Given the description of an element on the screen output the (x, y) to click on. 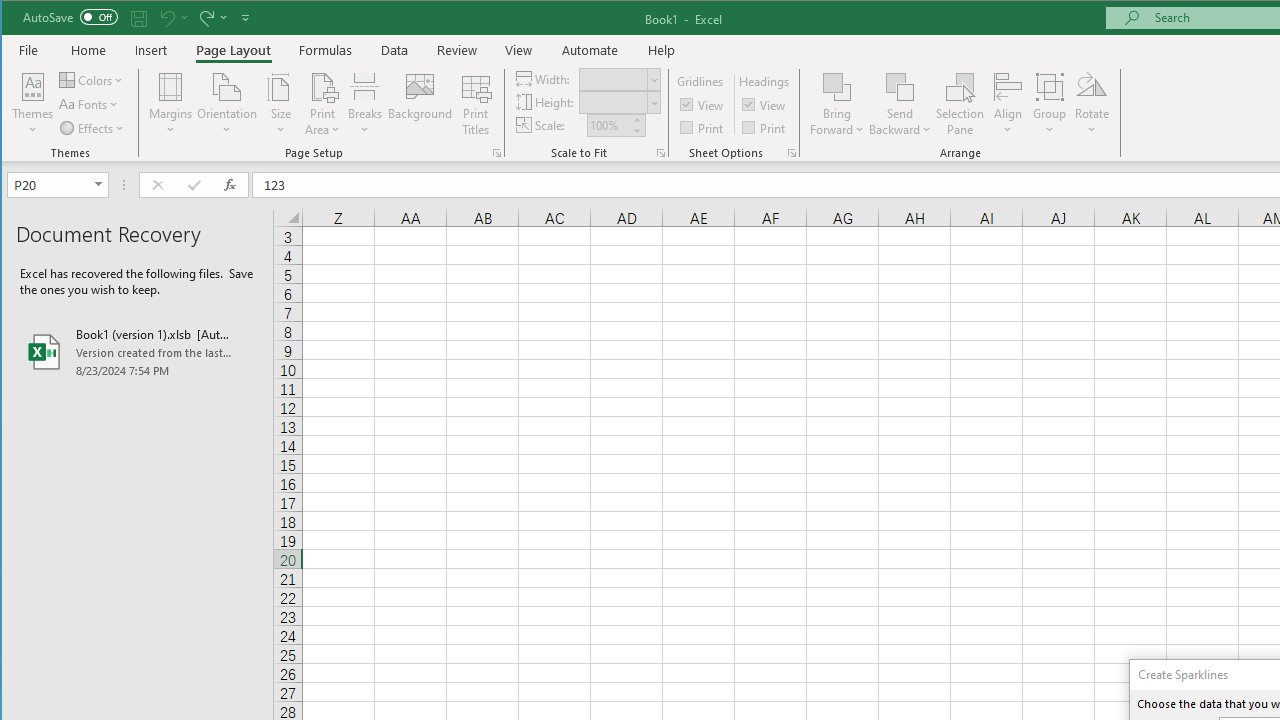
Effects (93, 127)
Data (395, 50)
Less (636, 130)
System (19, 18)
Review (456, 50)
Background... (420, 104)
Redo (205, 17)
More (636, 120)
Rotate (1092, 104)
Width (619, 78)
Breaks (365, 104)
Size (280, 104)
Name Box (57, 184)
Open (99, 184)
Redo (211, 17)
